Given the description of an element on the screen output the (x, y) to click on. 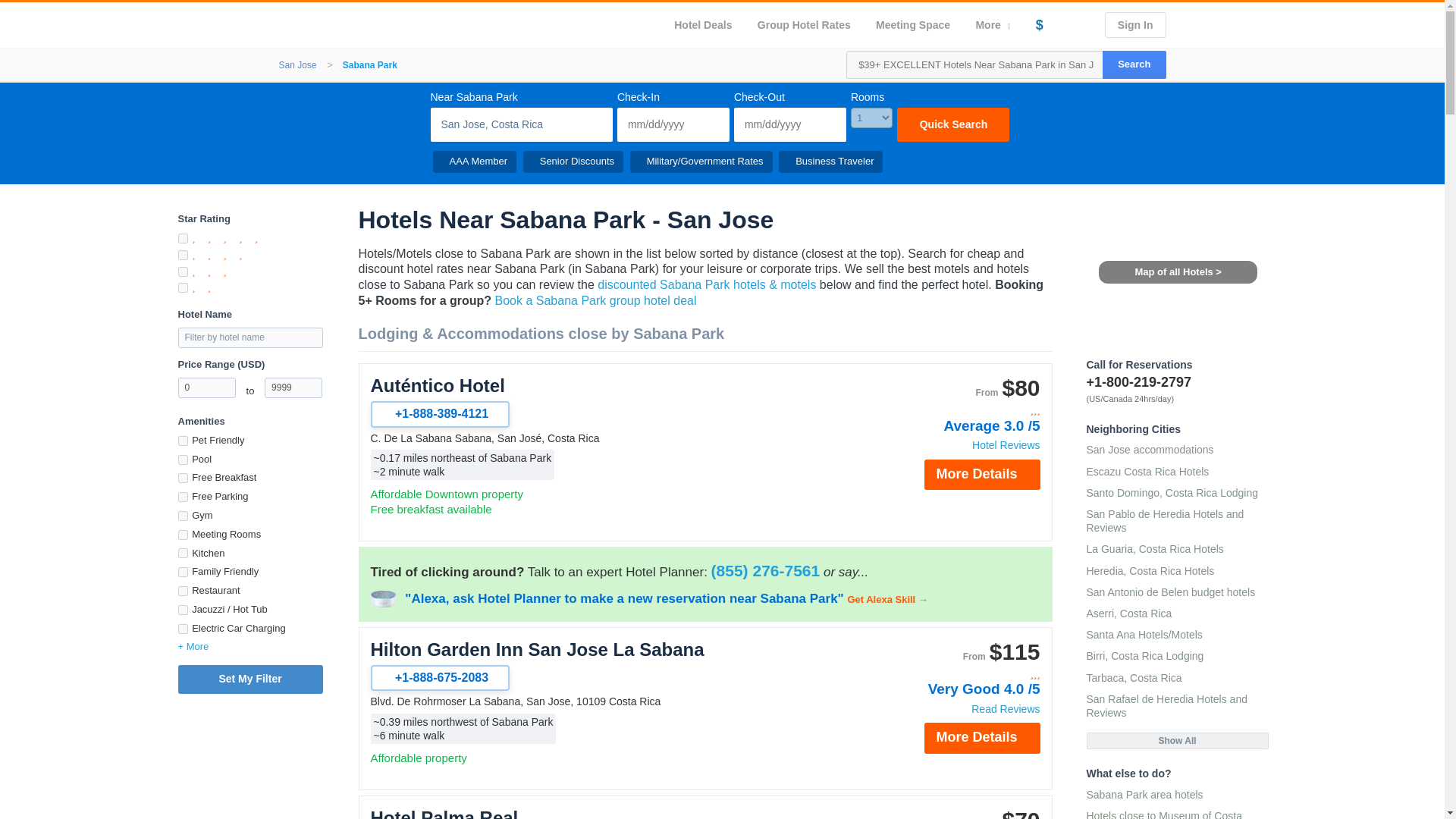
Meeting Space (912, 24)
9999 (292, 387)
Sign In (1135, 24)
Quick Search (952, 124)
1073745198 (182, 572)
81 (182, 552)
Search (1134, 64)
3 stars (958, 410)
More Details (981, 474)
14 (182, 460)
